Given the description of an element on the screen output the (x, y) to click on. 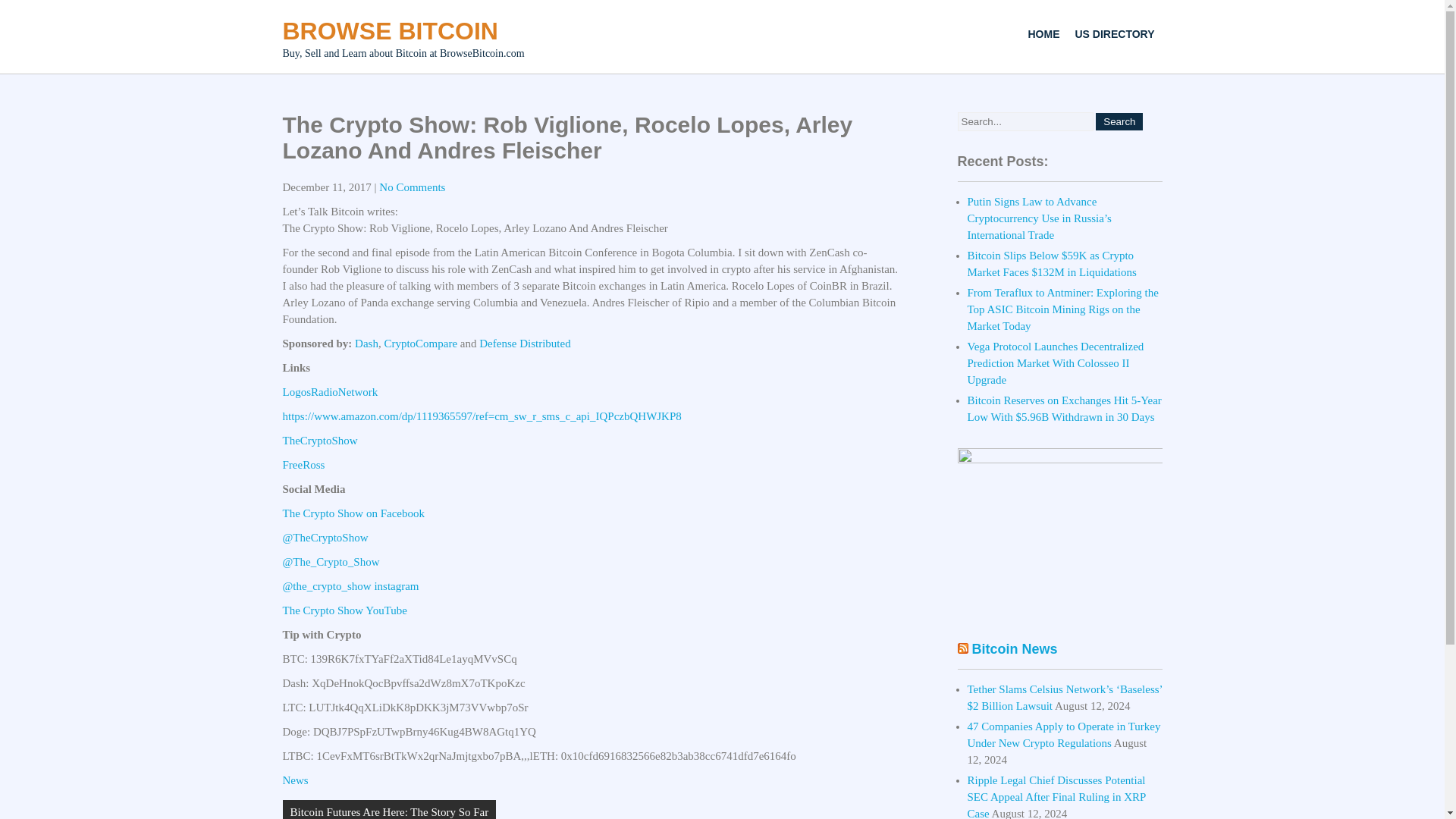
Search (1119, 121)
US DIRECTORY (1114, 33)
Dash (366, 343)
Bitcoin News (1015, 648)
BROWSE BITCOIN (389, 31)
The Crypto Show on Facebook (352, 512)
Search (1119, 121)
FreeRoss (303, 464)
